Given the description of an element on the screen output the (x, y) to click on. 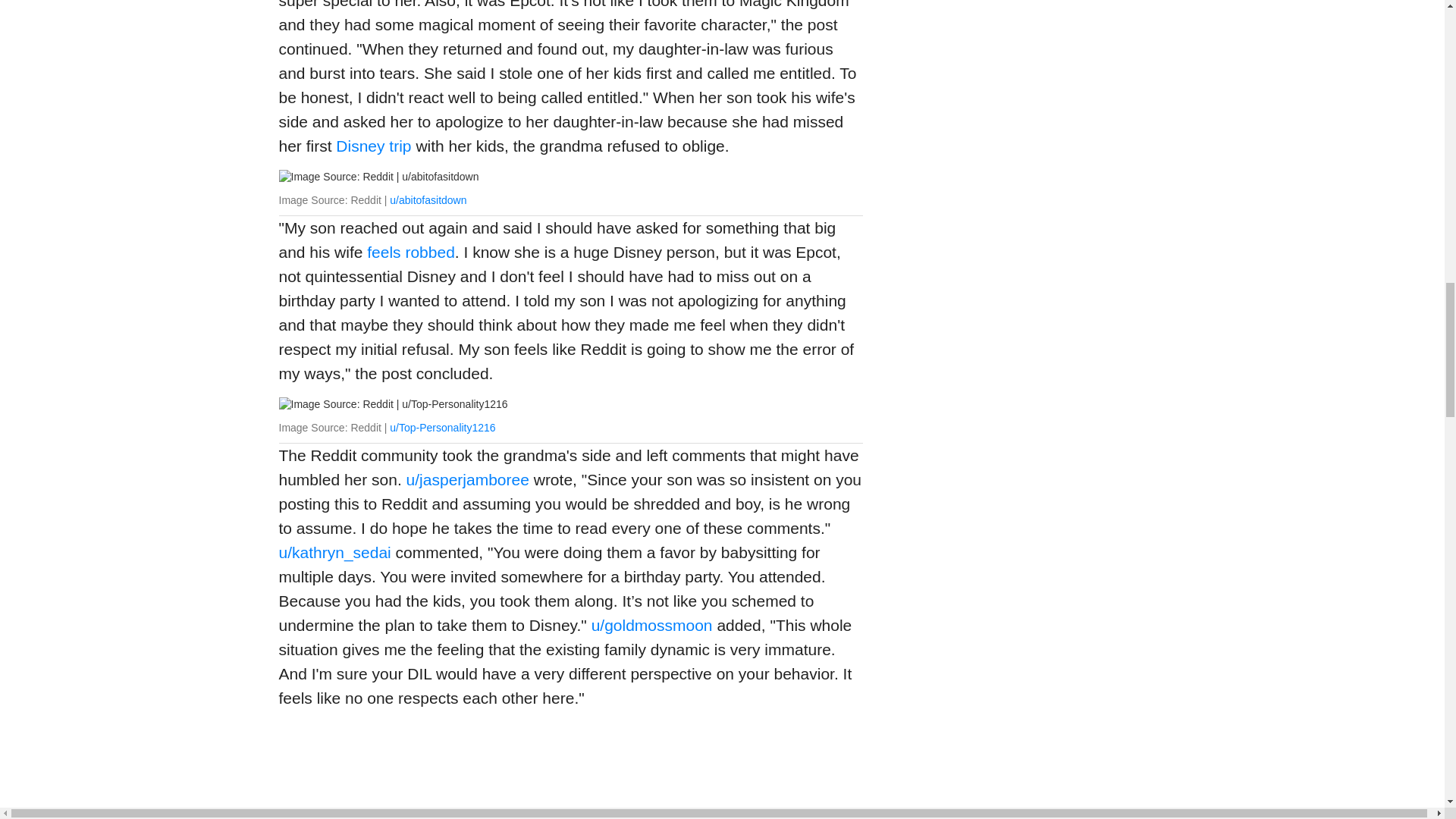
feels robbed (410, 252)
 Disney trip (371, 145)
